Given the description of an element on the screen output the (x, y) to click on. 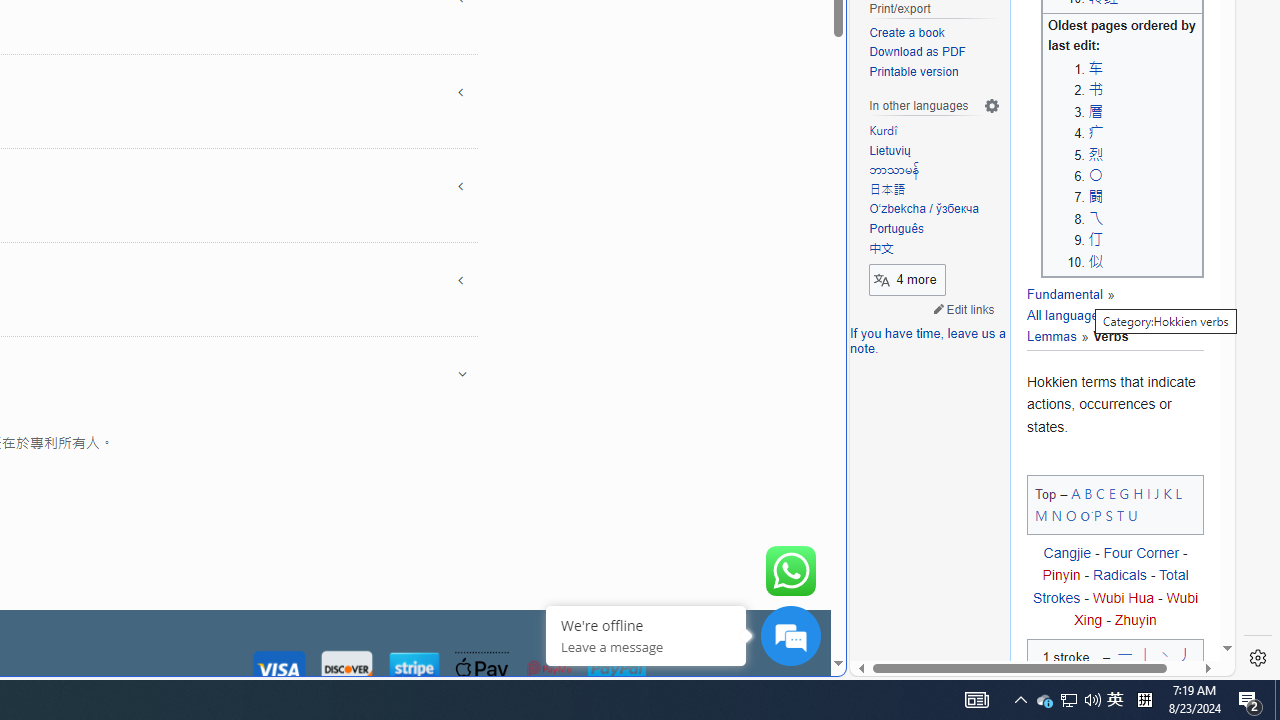
4 more (907, 278)
Fundamental (1064, 295)
C (1099, 492)
Create a book (906, 32)
Fundamental (1064, 295)
Top (1046, 493)
L (1178, 492)
